Given the description of an element on the screen output the (x, y) to click on. 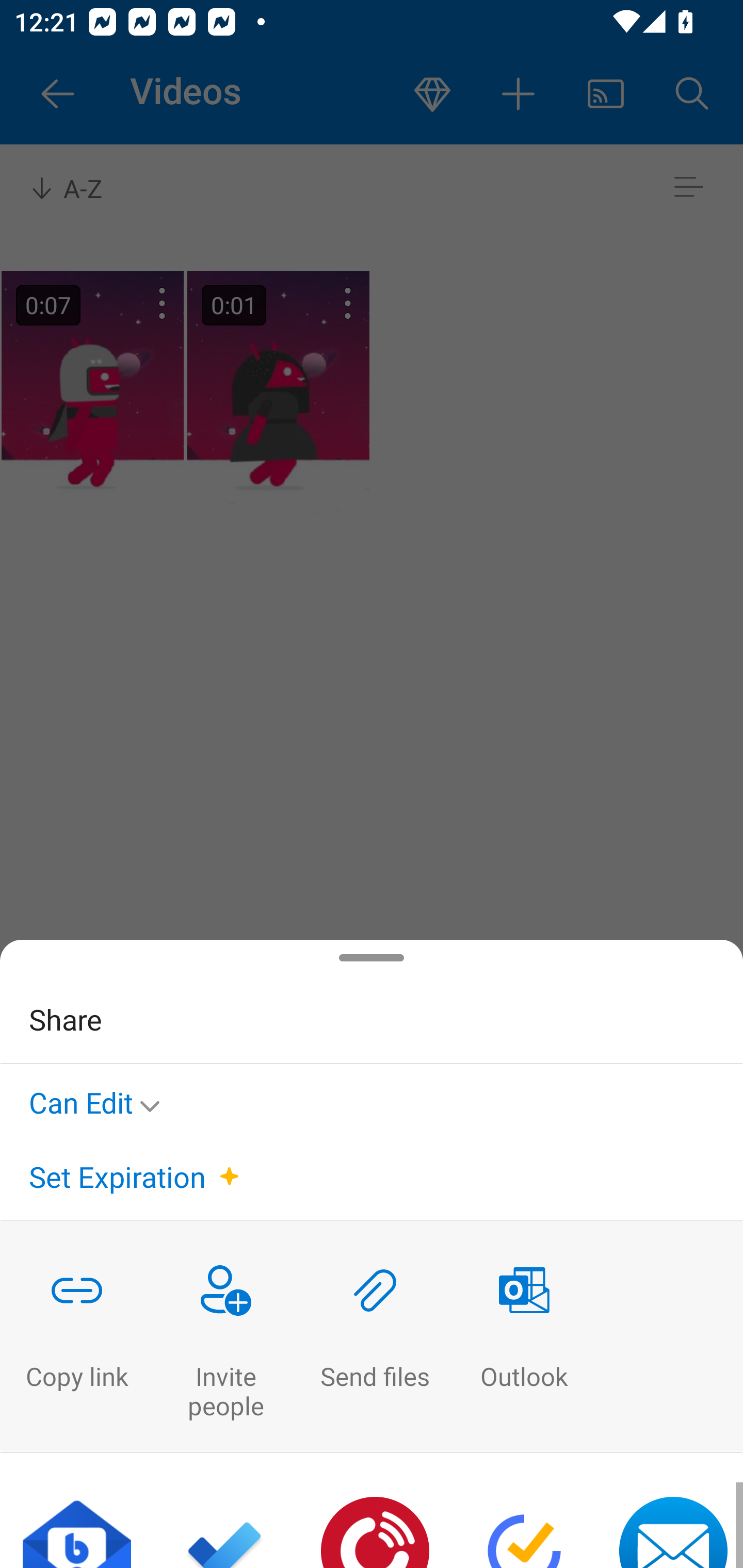
Can Edit (100, 1098)
Set Expiration (117, 1176)
Copy link (76, 1336)
Invite people (225, 1336)
Send files (374, 1336)
Outlook (523, 1336)
